Given the description of an element on the screen output the (x, y) to click on. 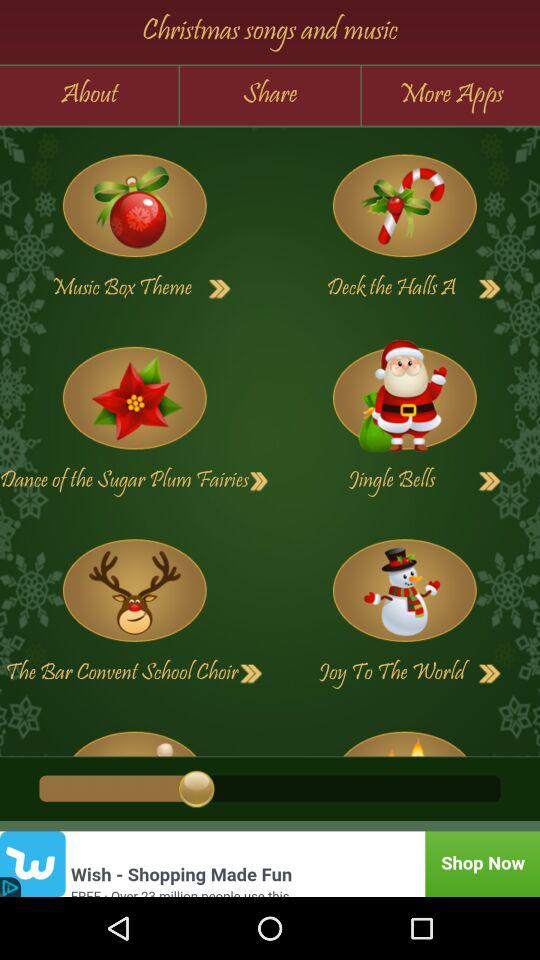
go to next (251, 673)
